Given the description of an element on the screen output the (x, y) to click on. 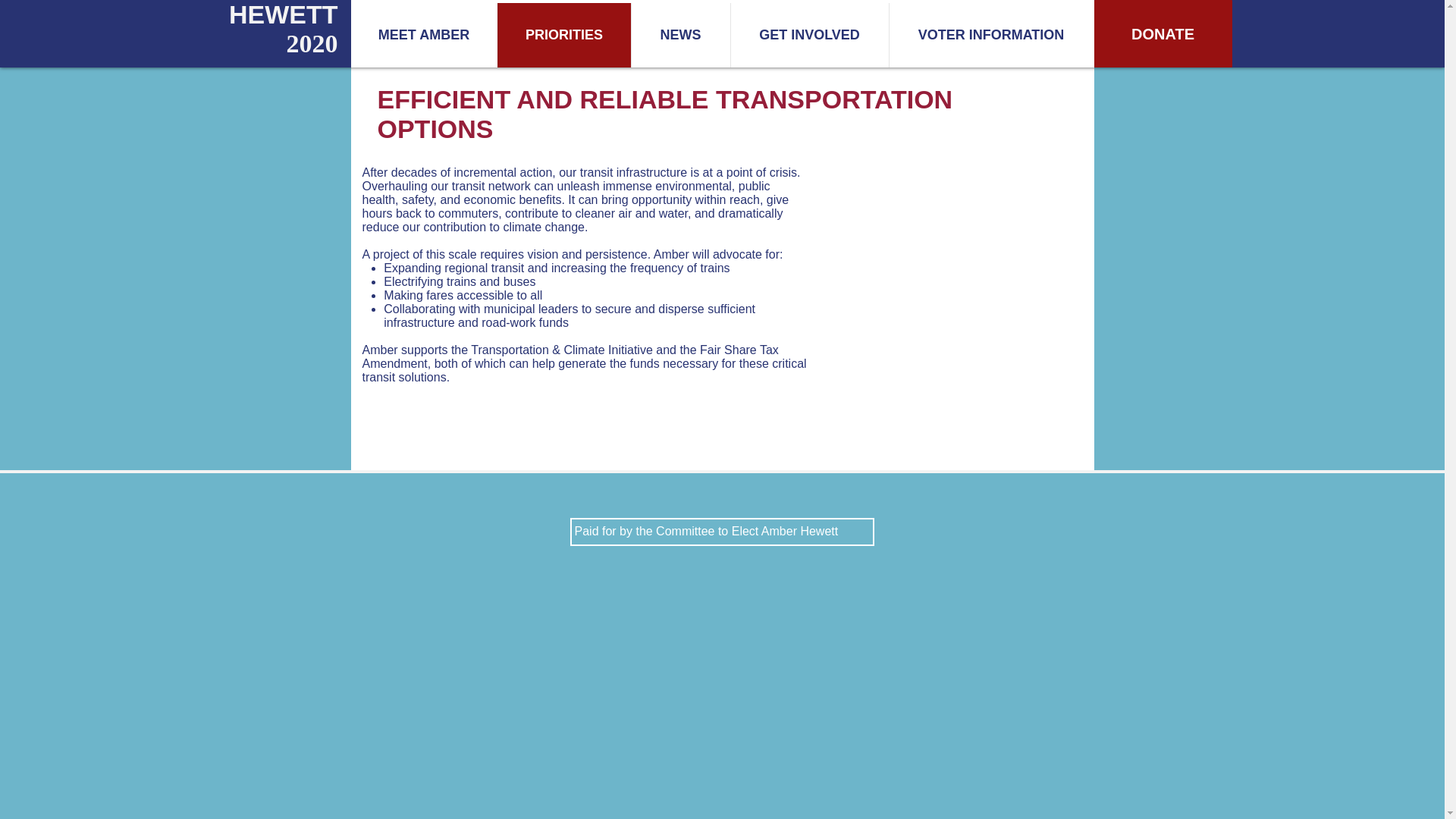
PRIORITIES (563, 35)
VOTER INFORMATION (990, 35)
MEET AMBER (423, 35)
HEWETT 2020 (282, 28)
DONATE (1162, 33)
GET INVOLVED (808, 35)
NEWS (680, 35)
